Given the description of an element on the screen output the (x, y) to click on. 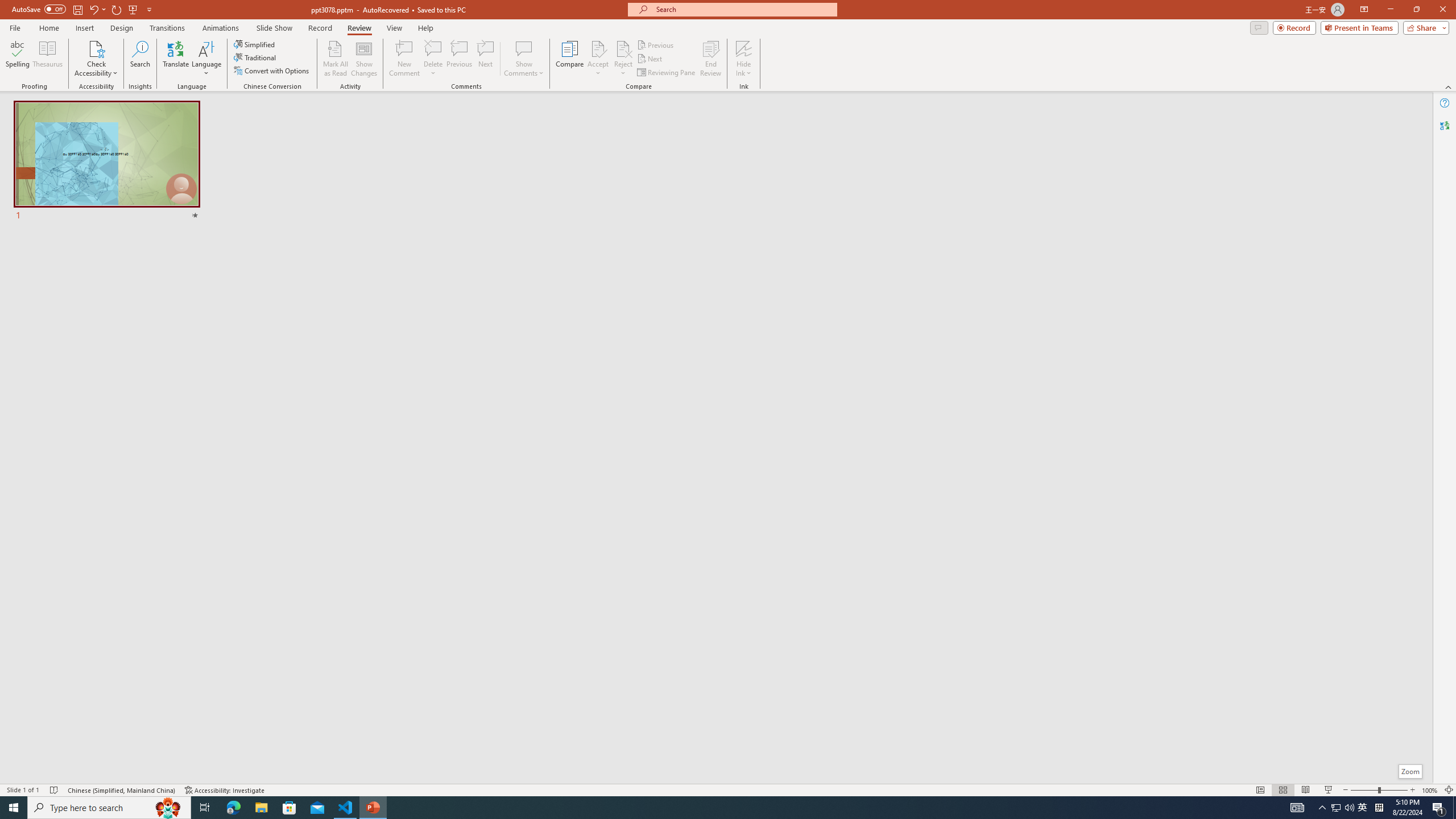
Hide Ink (743, 48)
End Review (710, 58)
Previous (655, 44)
Mark All as Read (335, 58)
Reject Change (622, 48)
